Given the description of an element on the screen output the (x, y) to click on. 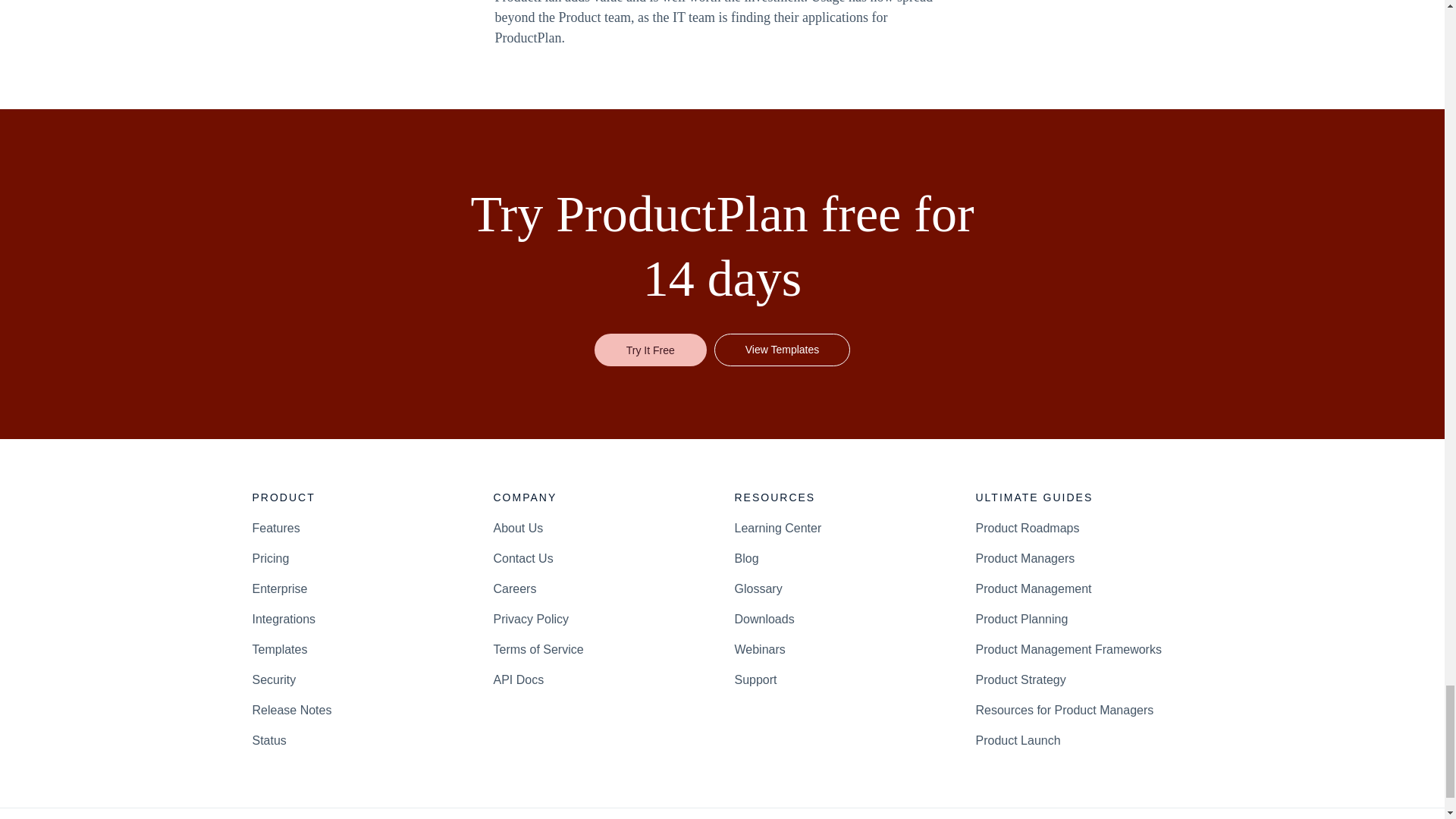
Features (275, 527)
View Templates (782, 349)
Try It Free (650, 349)
